Given the description of an element on the screen output the (x, y) to click on. 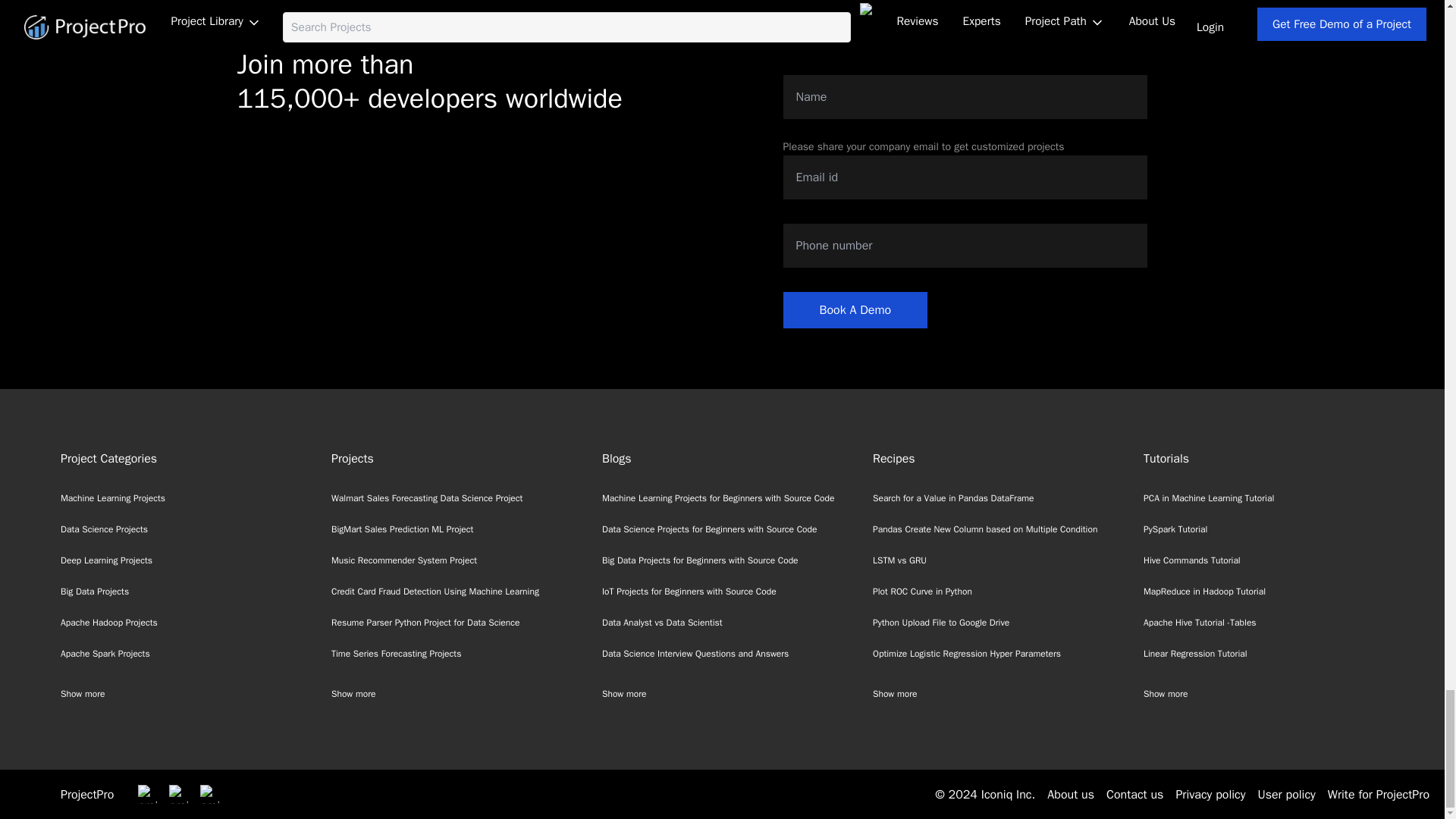
Data Science Projects (104, 529)
Big Data Projects (95, 591)
Deep Learning Projects (106, 560)
Deep Learning Projects (106, 560)
Machine Learning Projects (113, 498)
Data Science Projects (104, 529)
Book A Demo (855, 309)
Apache Hadoop Projects (109, 622)
Machine Learning Projects (113, 498)
